Given the description of an element on the screen output the (x, y) to click on. 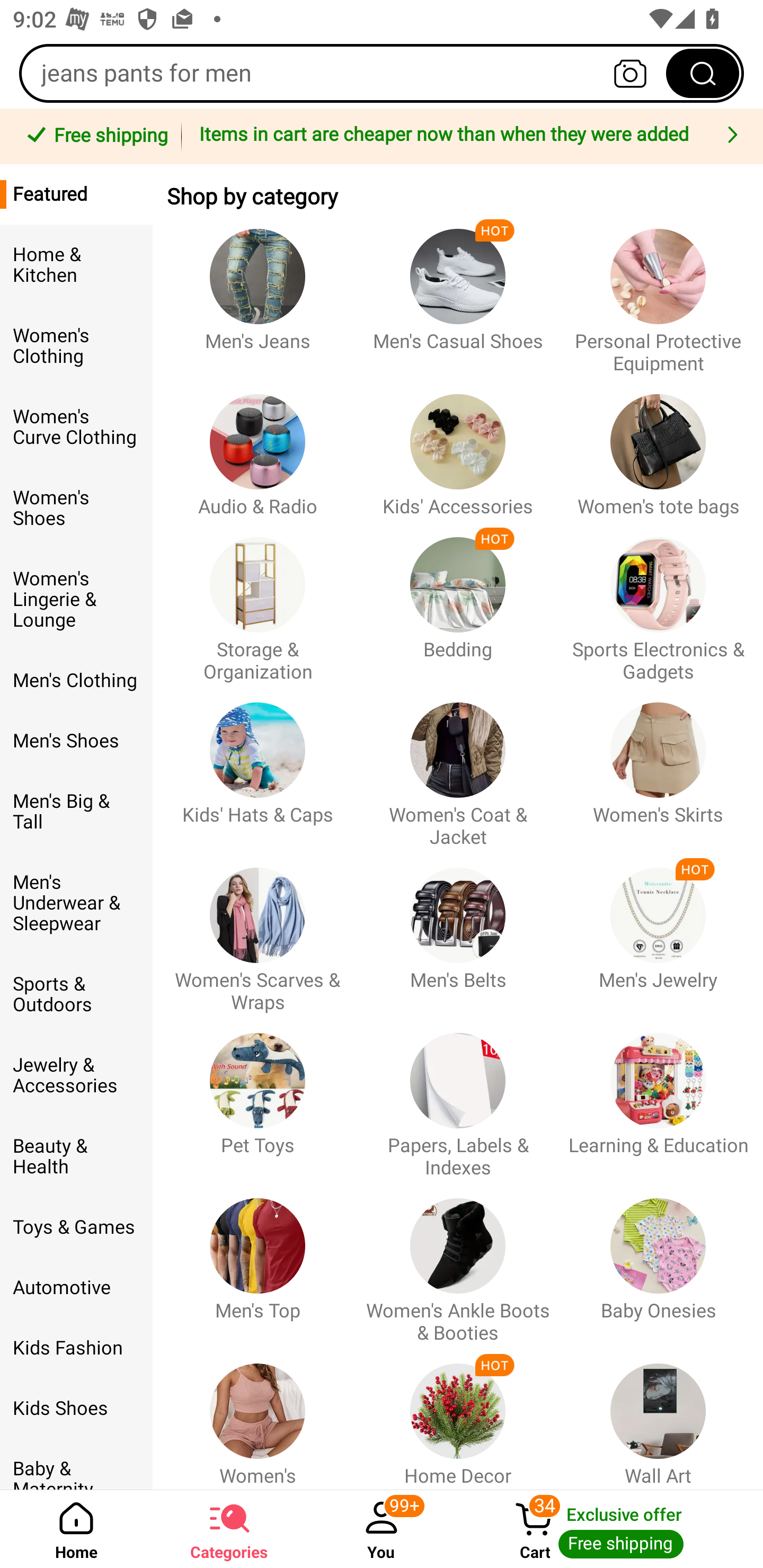
jeans pants for men (381, 73)
 Free shipping (93, 136)
Featured (76, 194)
Men's Jeans (257, 292)
Men's Casual Shoes (457, 292)
Personal Protective Equipment (657, 292)
Home & Kitchen (76, 264)
Women's Clothing (76, 346)
Audio & Radio (257, 445)
Kids' Accessories (457, 445)
Women's tote bags (657, 445)
Women's Curve Clothing (76, 427)
Women's Shoes (76, 507)
Storage & Organization (257, 600)
Bedding (457, 600)
Sports Electronics & Gadgets (657, 600)
Women's Lingerie & Lounge (76, 599)
Men's Clothing (76, 680)
Kids' Hats & Caps (257, 765)
Women's Coat & Jacket (457, 765)
Women's Skirts (657, 765)
Men's Shoes (76, 740)
Men's Big & Tall (76, 811)
Women's Scarves & Wraps (257, 931)
Men's Belts (457, 931)
Men's Jewelry (657, 931)
Men's Underwear & Sleepwear (76, 902)
Sports & Outdoors (76, 993)
Pet Toys (257, 1096)
Papers, Labels & Indexes (457, 1096)
Learning & Education (657, 1096)
Jewelry & Accessories (76, 1075)
Beauty & Health (76, 1156)
Men's Top (257, 1261)
Women's Ankle Boots & Booties (457, 1261)
Baby Onesies (657, 1261)
Toys & Games (76, 1227)
Automotive (76, 1287)
Kids Fashion (76, 1348)
Women's Loungewear (257, 1416)
Home Decor Products (457, 1416)
Wall Art (657, 1416)
Kids Shoes (76, 1408)
Baby & Maternity (76, 1464)
Home (76, 1528)
Categories (228, 1528)
You ‎99+‎ You (381, 1528)
